Given the description of an element on the screen output the (x, y) to click on. 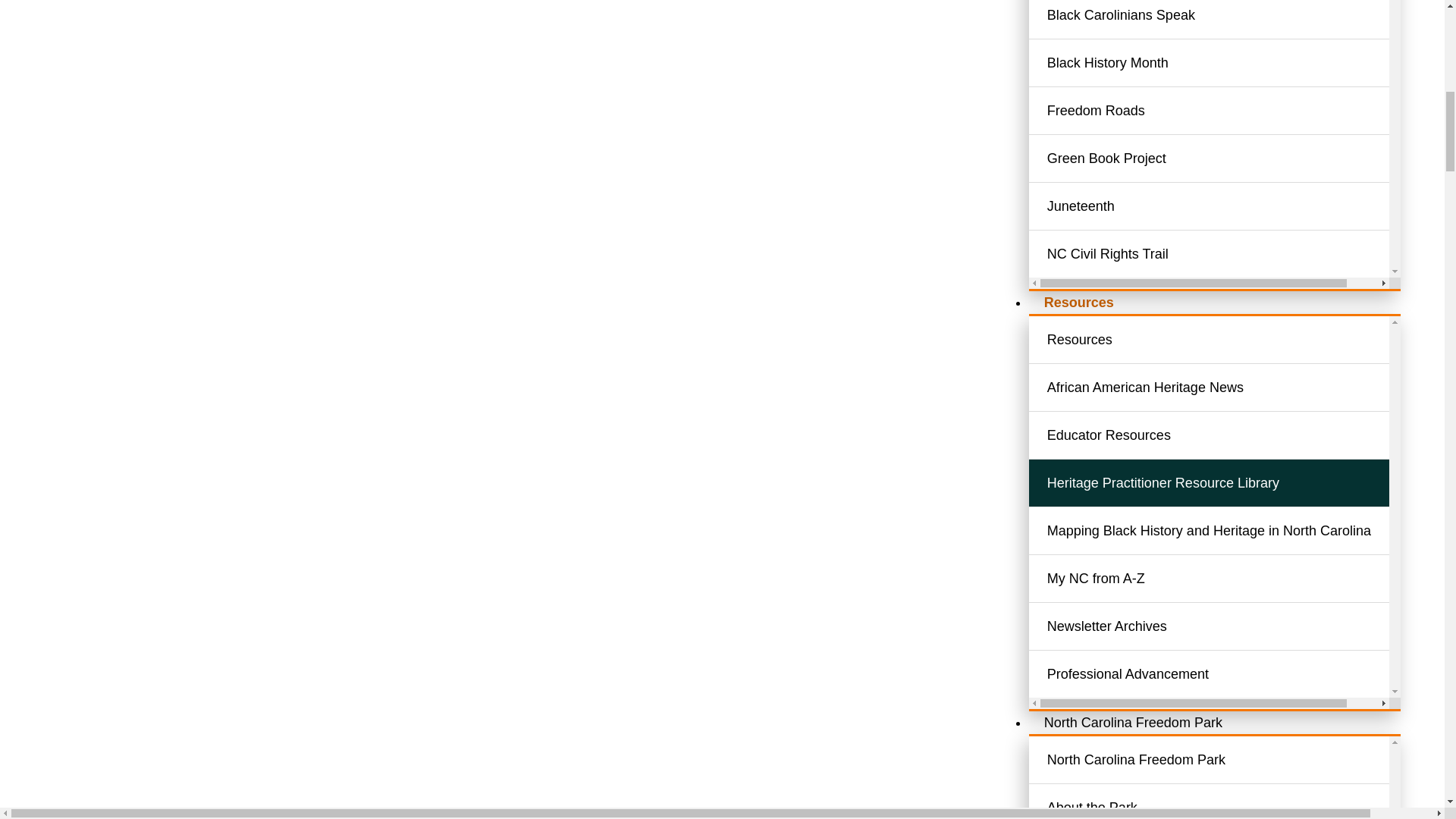
Freedom Roads (1227, 110)
About the Park (1227, 806)
North Carolina Freedom Park (1133, 722)
Professional Advancement (1227, 674)
Resources (1079, 302)
African American Heritage News (1227, 387)
Green Book Project (1227, 158)
Mapping Black History and Heritage in North Carolina (1227, 530)
Heritage Practitioner Resource Library (1227, 482)
North Carolina Freedom Park (1227, 759)
Juneteenth (1227, 205)
Black History Month (1227, 62)
Newsletter Archives (1227, 625)
Educator Resources (1227, 434)
NC Civil Rights Trail (1227, 253)
